Given the description of an element on the screen output the (x, y) to click on. 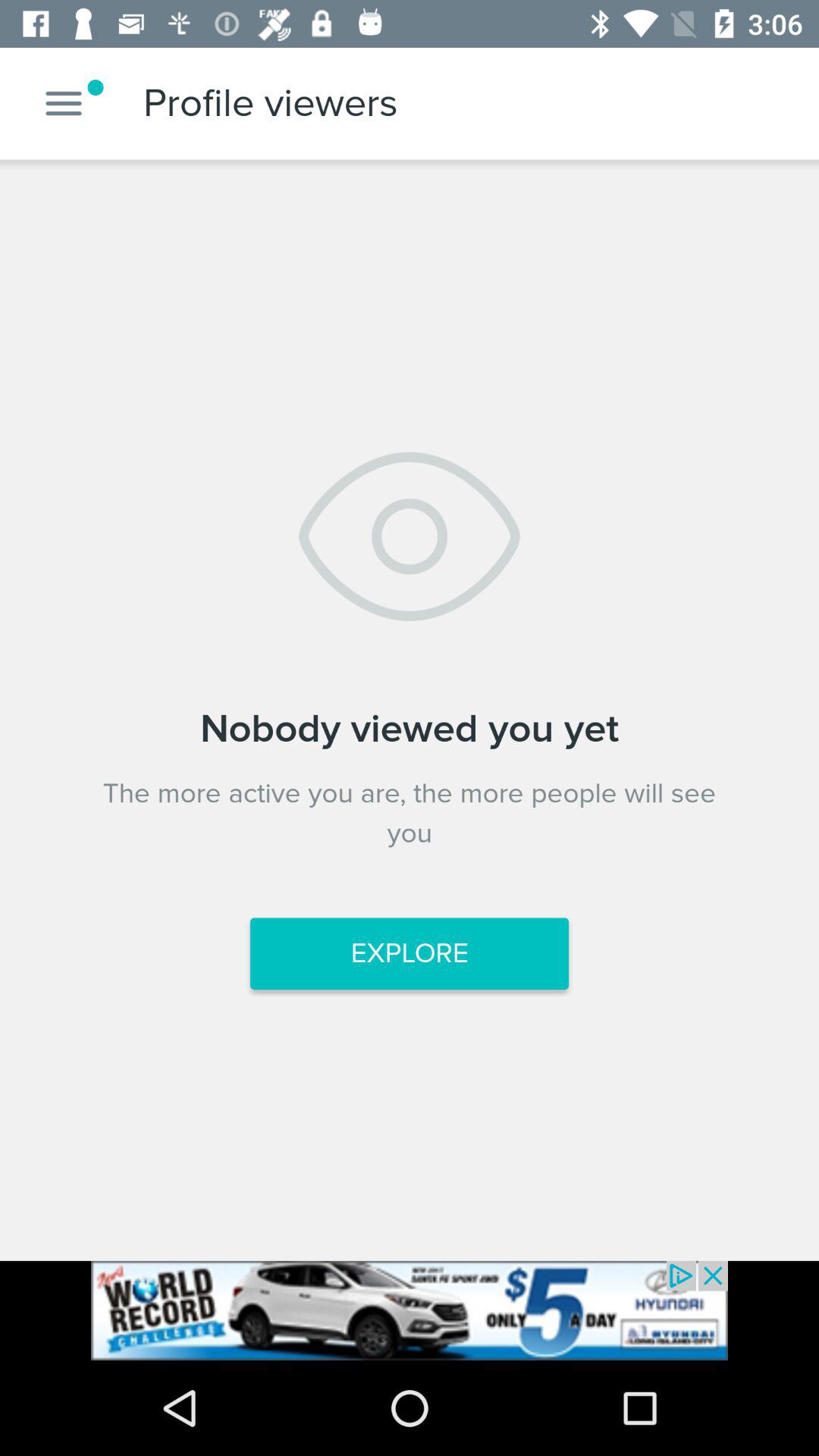
menu (63, 103)
